Given the description of an element on the screen output the (x, y) to click on. 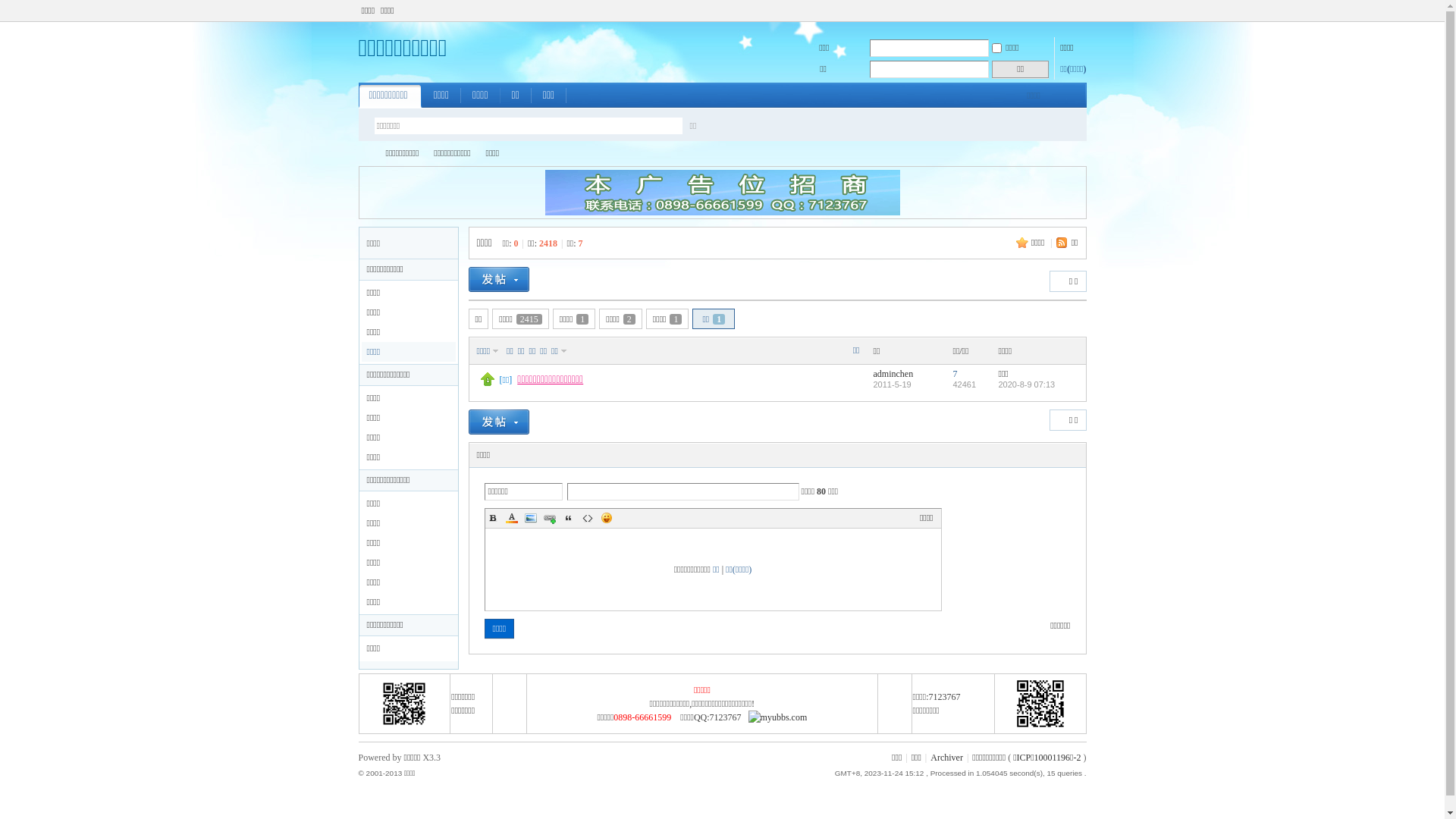
Smilies Element type: text (606, 517)
adminchen Element type: text (893, 373)
Code Element type: text (586, 517)
7 Element type: text (954, 373)
2020-8-9 07:13 Element type: text (1025, 384)
Link Element type: text (548, 517)
Image Element type: text (530, 517)
B Element type: text (492, 517)
Quote Element type: text (568, 517)
true Element type: text (738, 125)
Color Element type: text (510, 517)
Archiver Element type: text (946, 757)
